Given the description of an element on the screen output the (x, y) to click on. 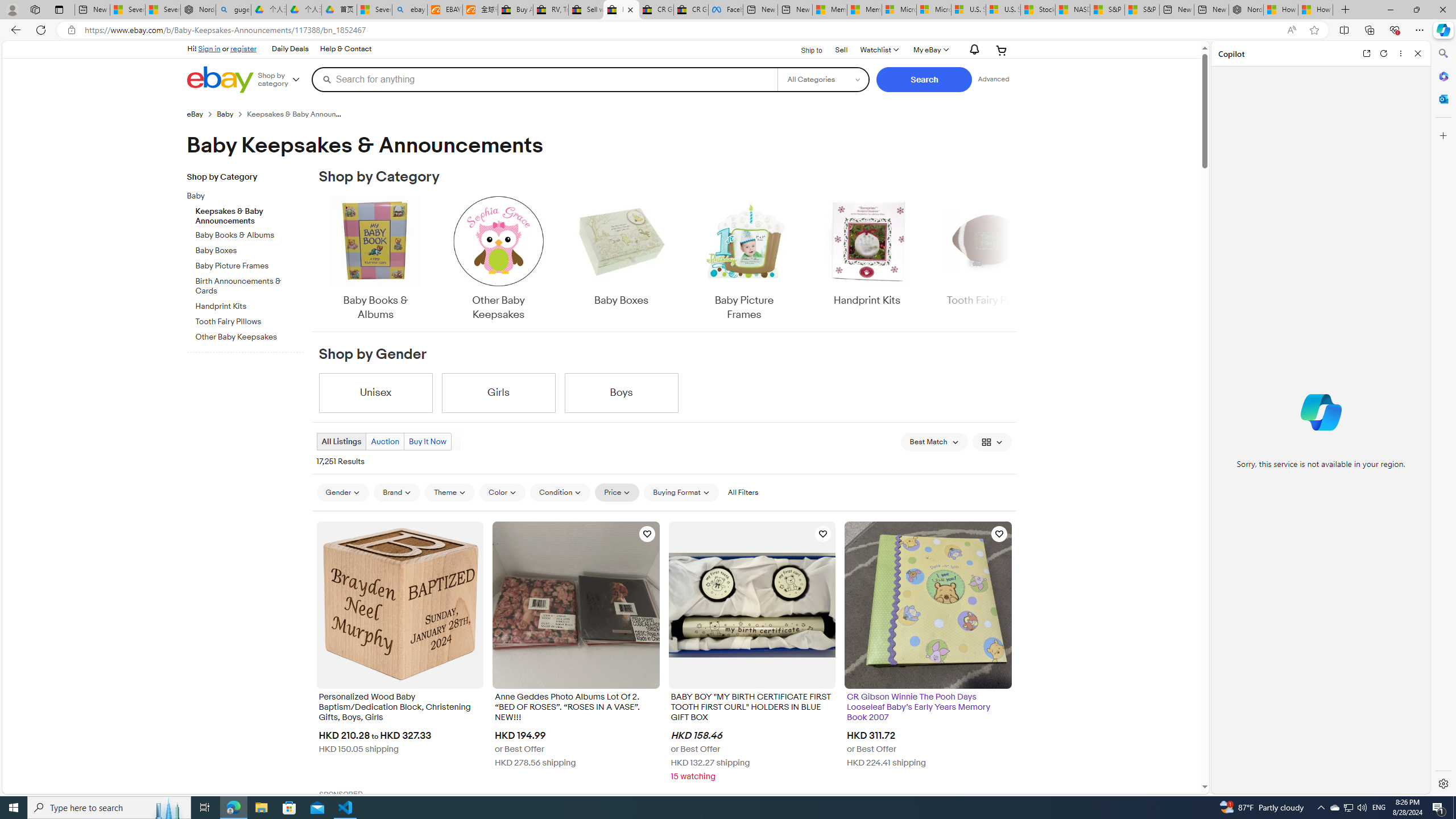
Buying Format (681, 492)
Buying Format (681, 492)
Help & Contact (345, 49)
Sell (841, 49)
Boys (621, 392)
App bar (728, 29)
Keepsakes & Baby Announcements (249, 214)
More options (1401, 53)
Other Baby Keepsakes (498, 258)
My eBayExpand My eBay (930, 49)
register (243, 48)
